Given the description of an element on the screen output the (x, y) to click on. 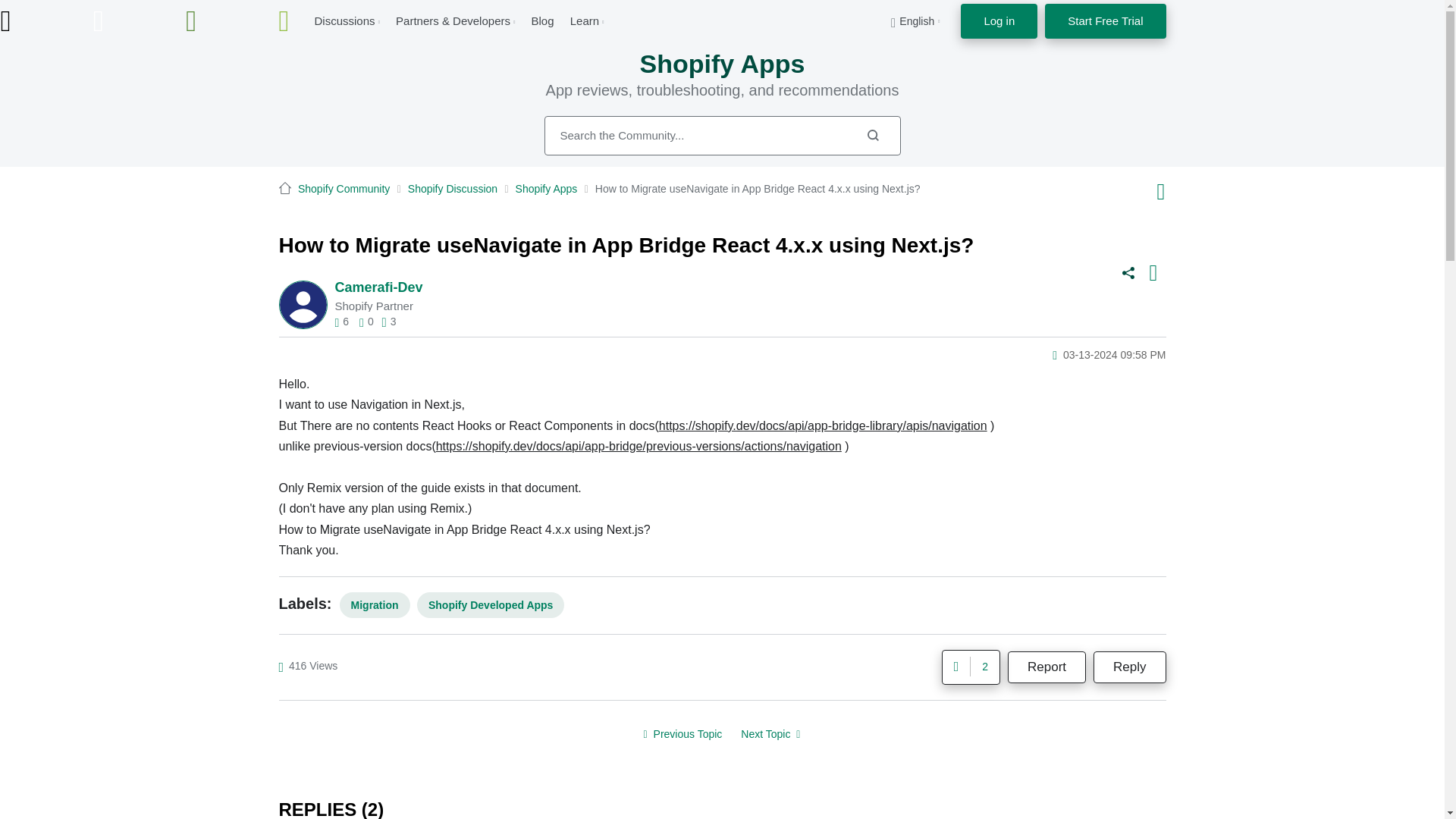
Discussions (344, 20)
Search (722, 135)
Search (872, 135)
Search (872, 135)
